Given the description of an element on the screen output the (x, y) to click on. 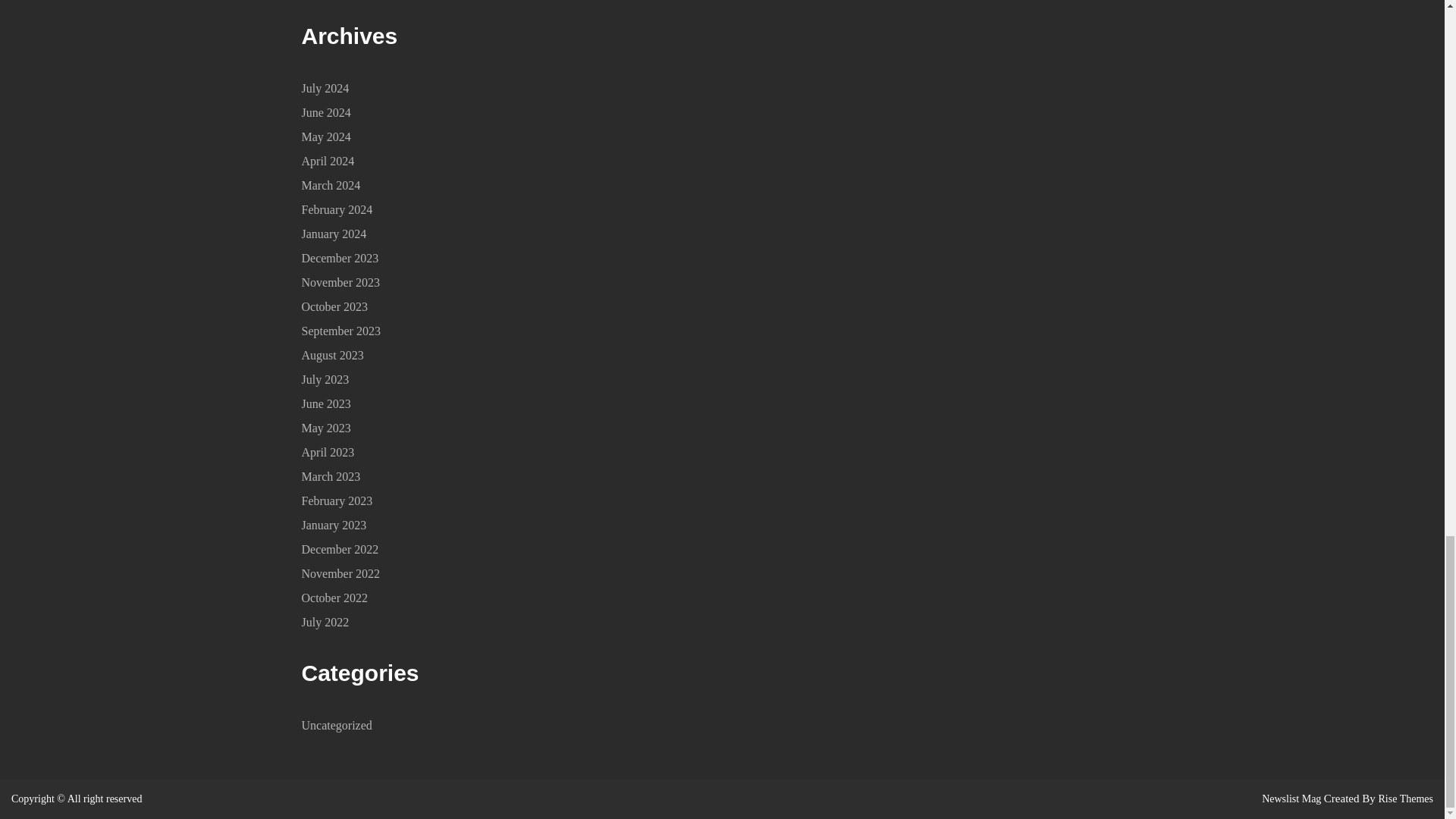
July 2024 (325, 88)
